Given the description of an element on the screen output the (x, y) to click on. 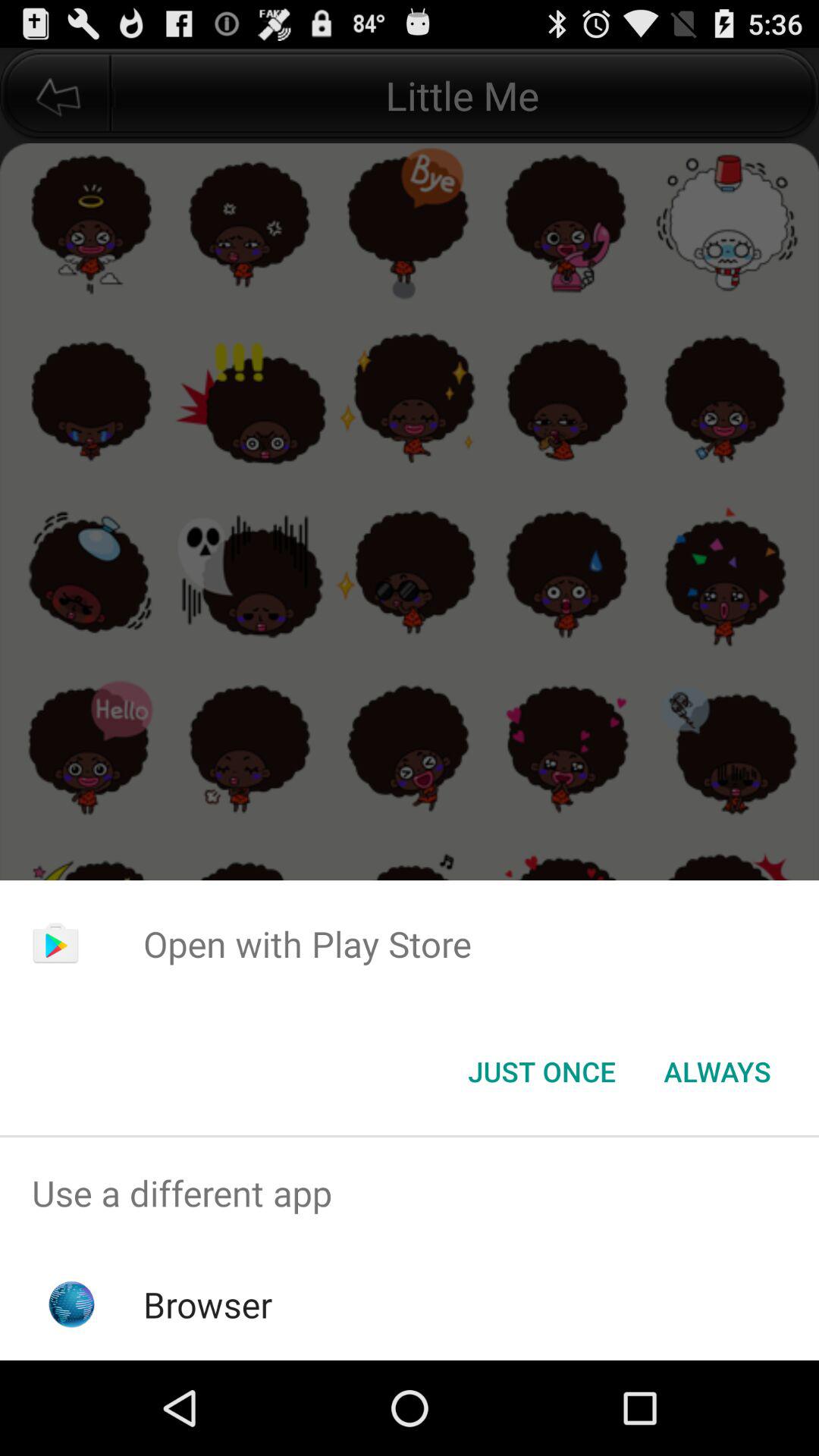
flip until the use a different item (409, 1192)
